Given the description of an element on the screen output the (x, y) to click on. 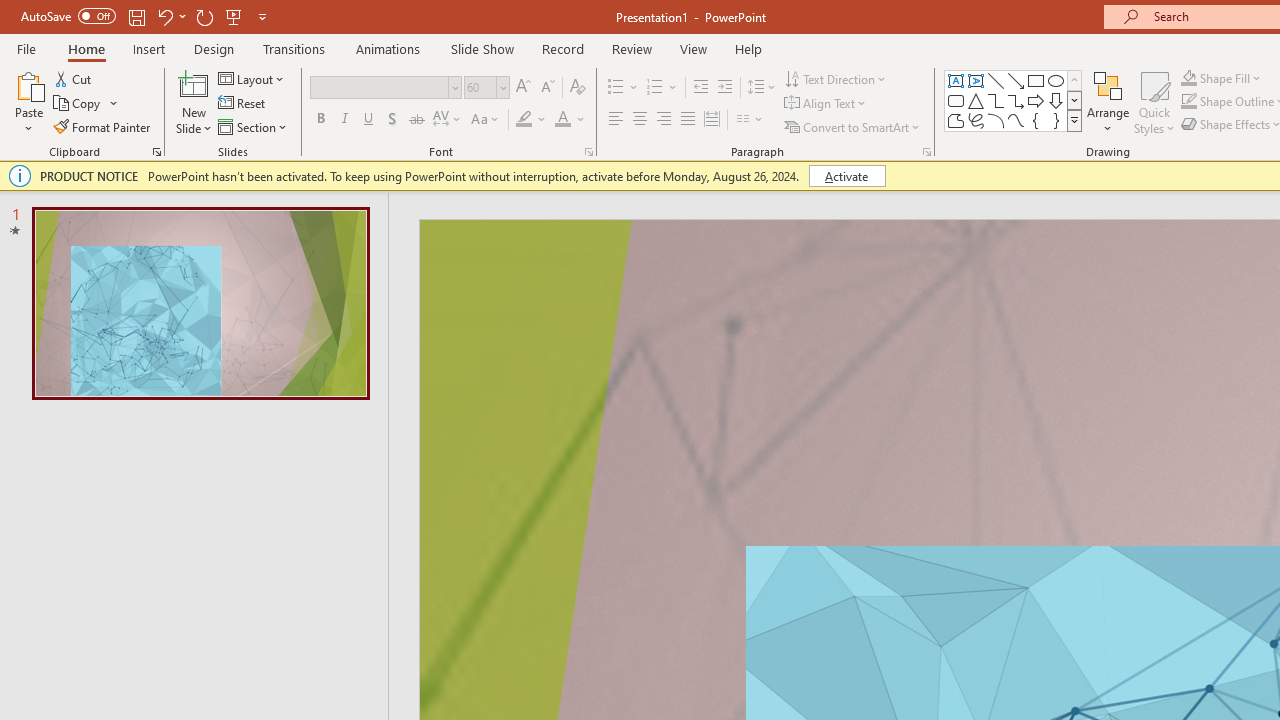
Activate (846, 175)
